Given the description of an element on the screen output the (x, y) to click on. 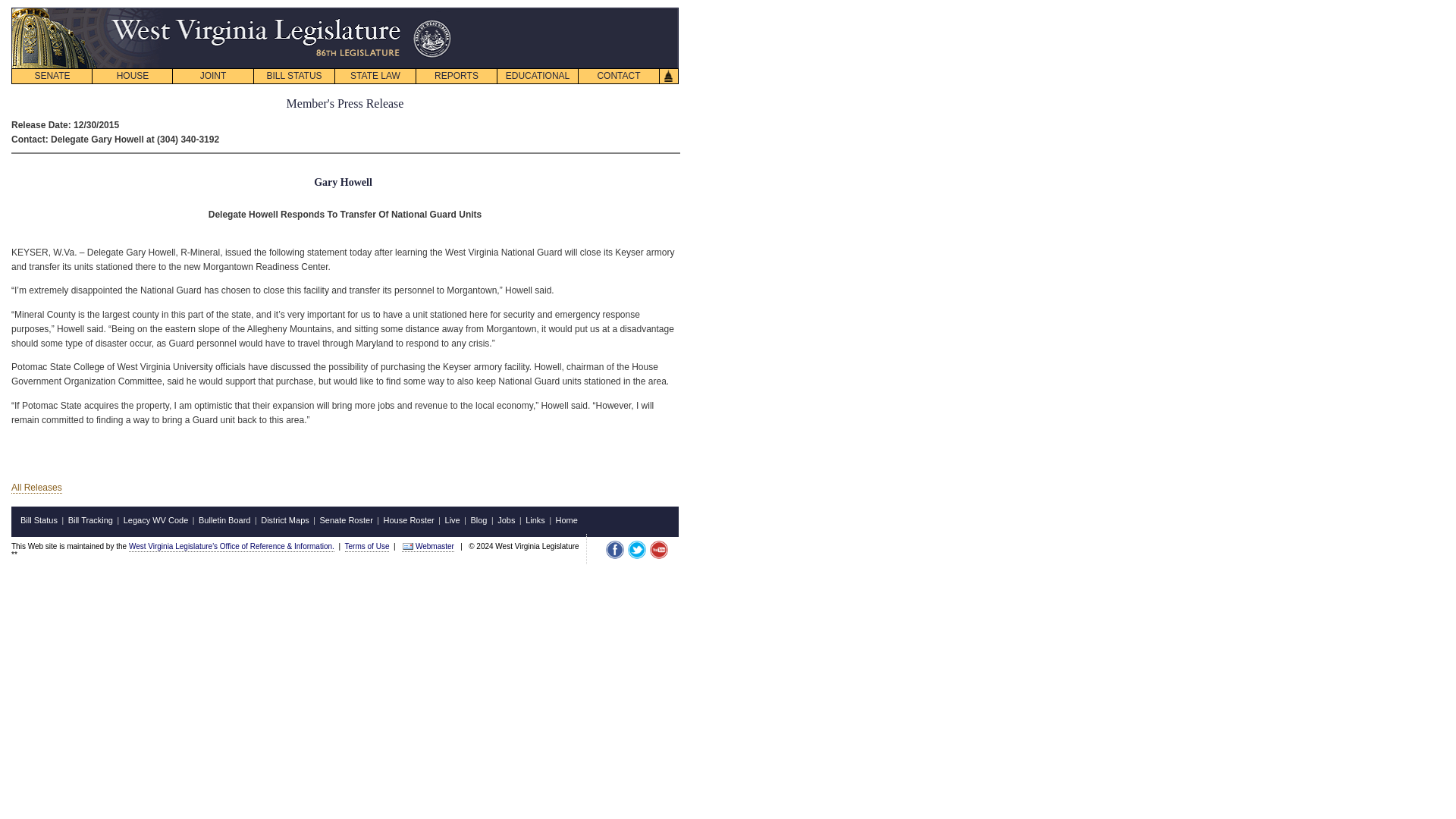
JOINT (212, 75)
Watch on YouTube (658, 549)
Follow on Twitter (636, 549)
Find on Facebook (614, 549)
Email Webmaster (407, 545)
BILL STATUS (293, 75)
HOUSE (132, 75)
SENATE (52, 75)
STATE LAW (375, 75)
